Given the description of an element on the screen output the (x, y) to click on. 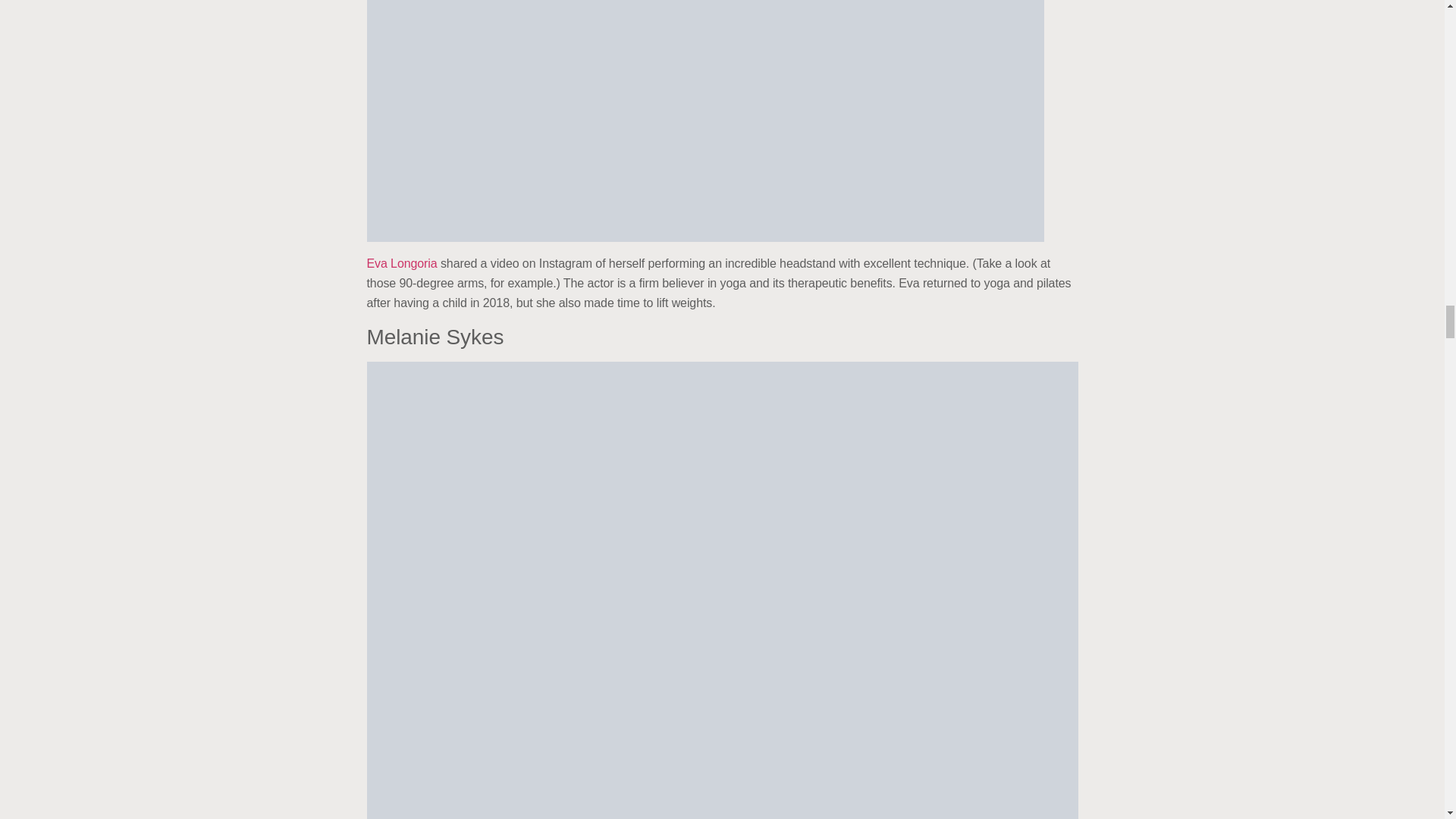
Eva Longoria (402, 263)
